Given the description of an element on the screen output the (x, y) to click on. 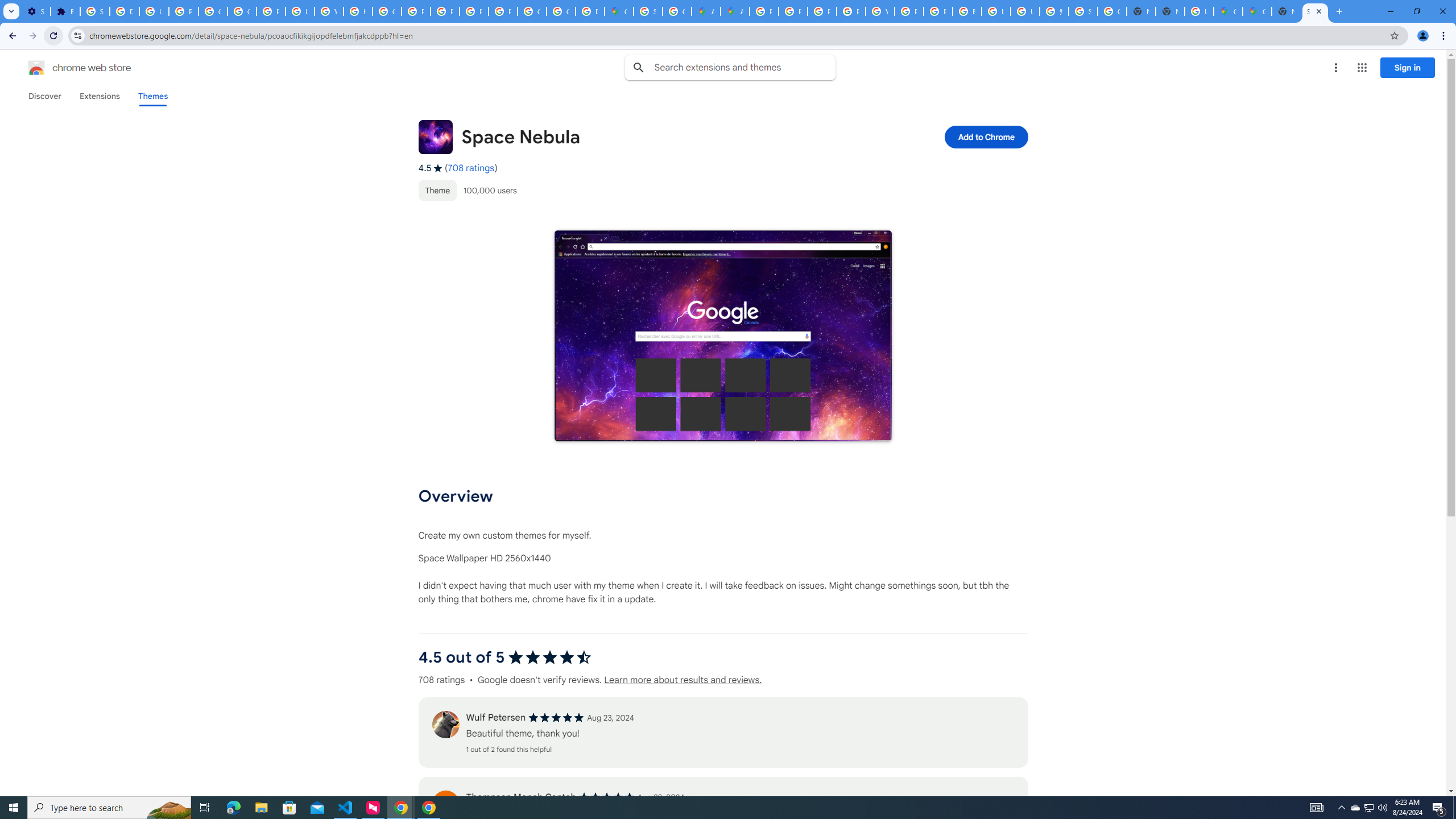
Create your Google Account (677, 11)
Google Maps (1256, 11)
Use Google Maps in Space - Google Maps Help (1198, 11)
Item media 1 screenshot (722, 335)
Add to Chrome (985, 136)
Google Maps (619, 11)
Settings - On startup (35, 11)
